Given the description of an element on the screen output the (x, y) to click on. 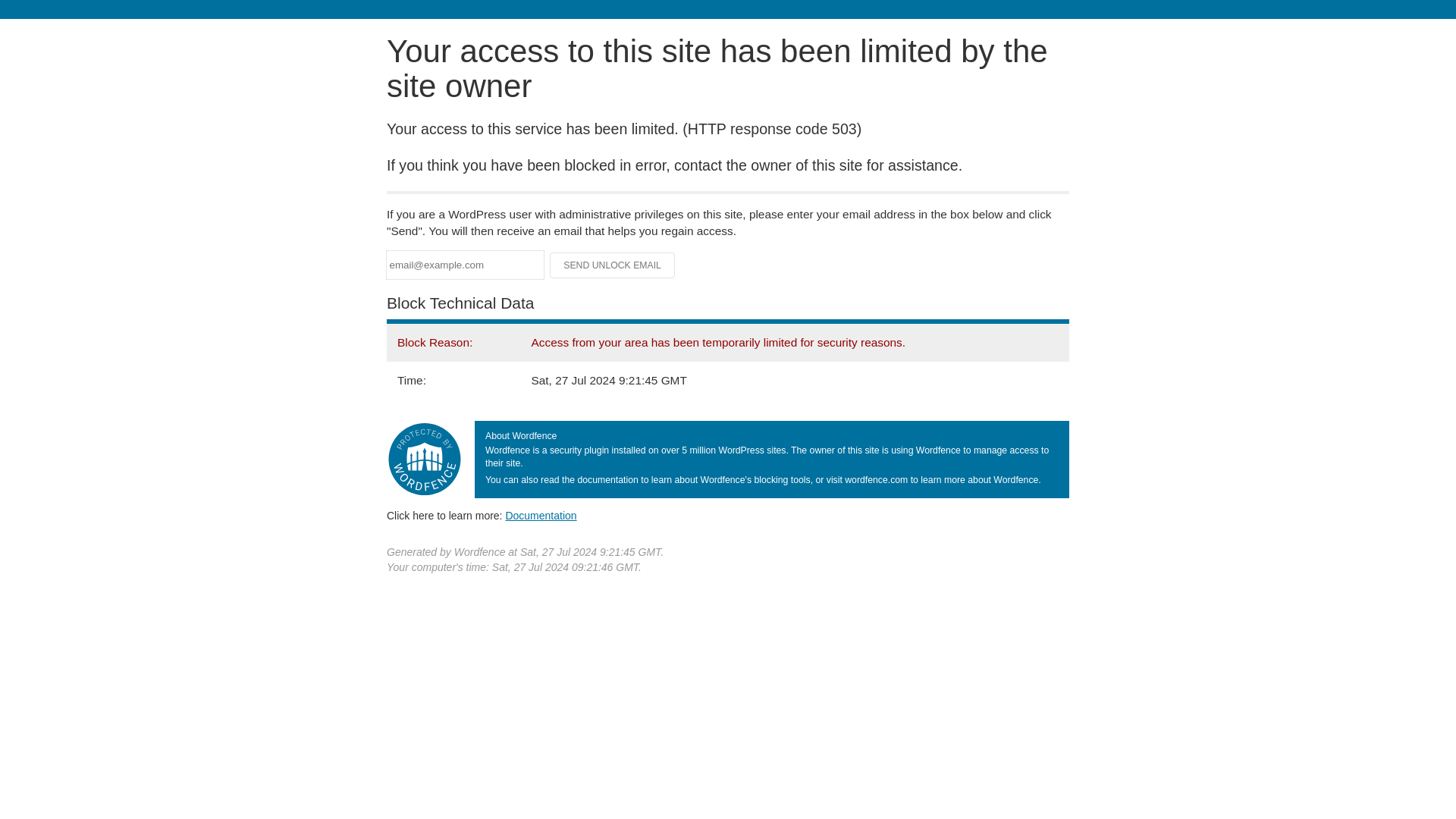
Send Unlock Email (612, 265)
Send Unlock Email (612, 265)
Documentation (540, 515)
